Given the description of an element on the screen output the (x, y) to click on. 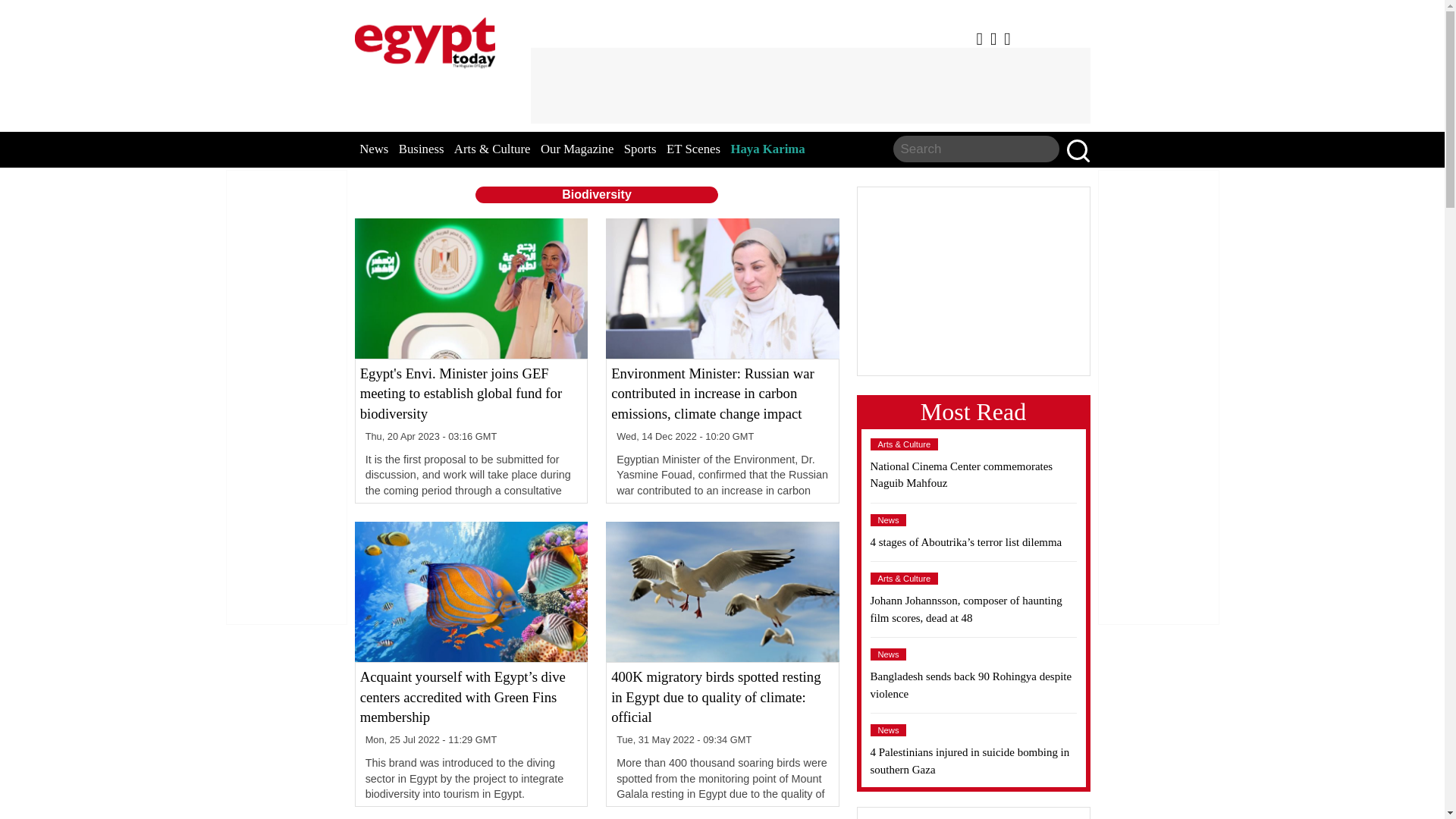
EgyptToday (425, 39)
Business (421, 149)
Haya Karima (767, 149)
Sports (640, 149)
3rd party ad content (810, 85)
ET Scenes (693, 149)
Our Magazine (576, 149)
